Given the description of an element on the screen output the (x, y) to click on. 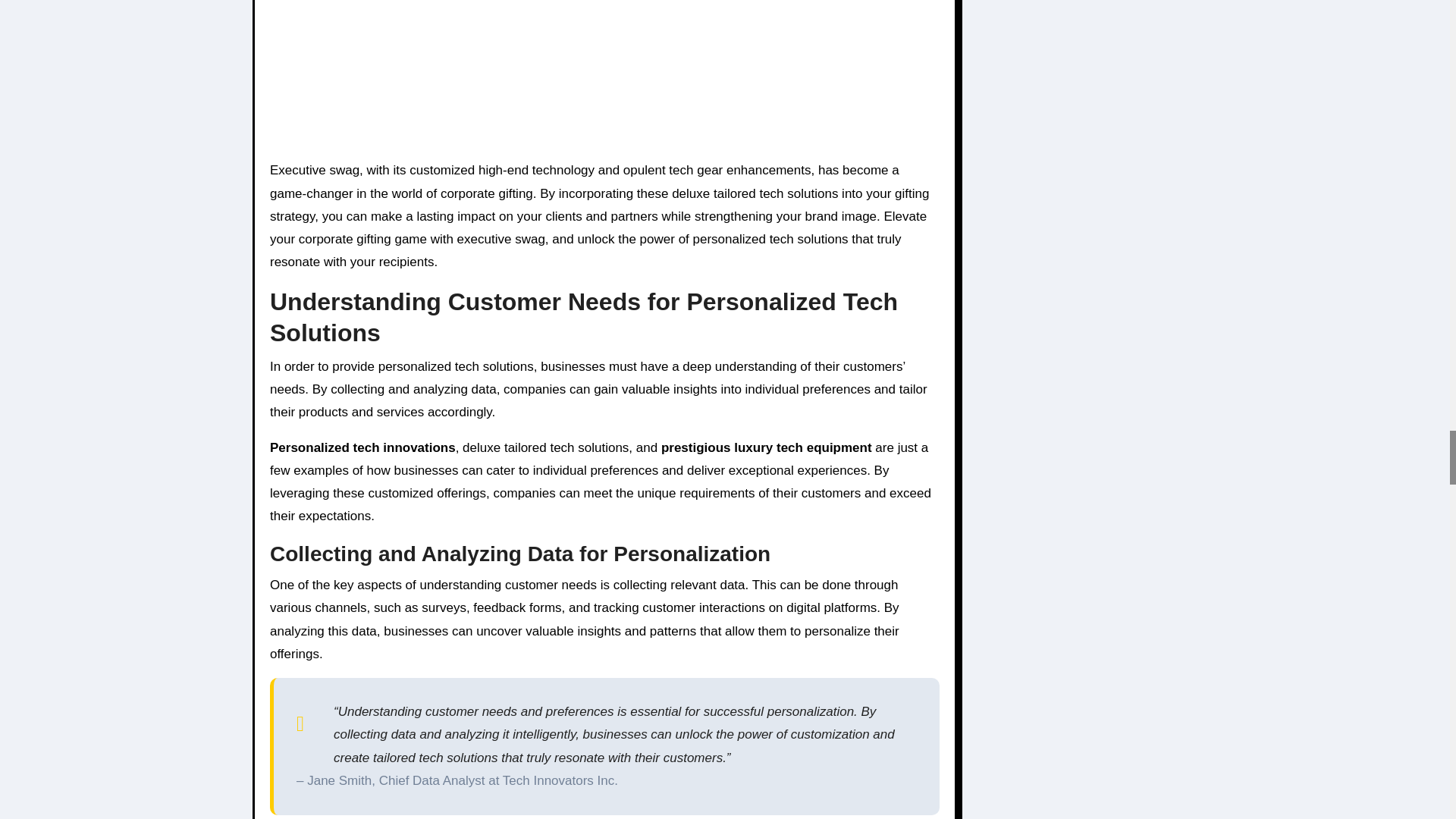
Opulent tech gear enhancements (604, 73)
